Given the description of an element on the screen output the (x, y) to click on. 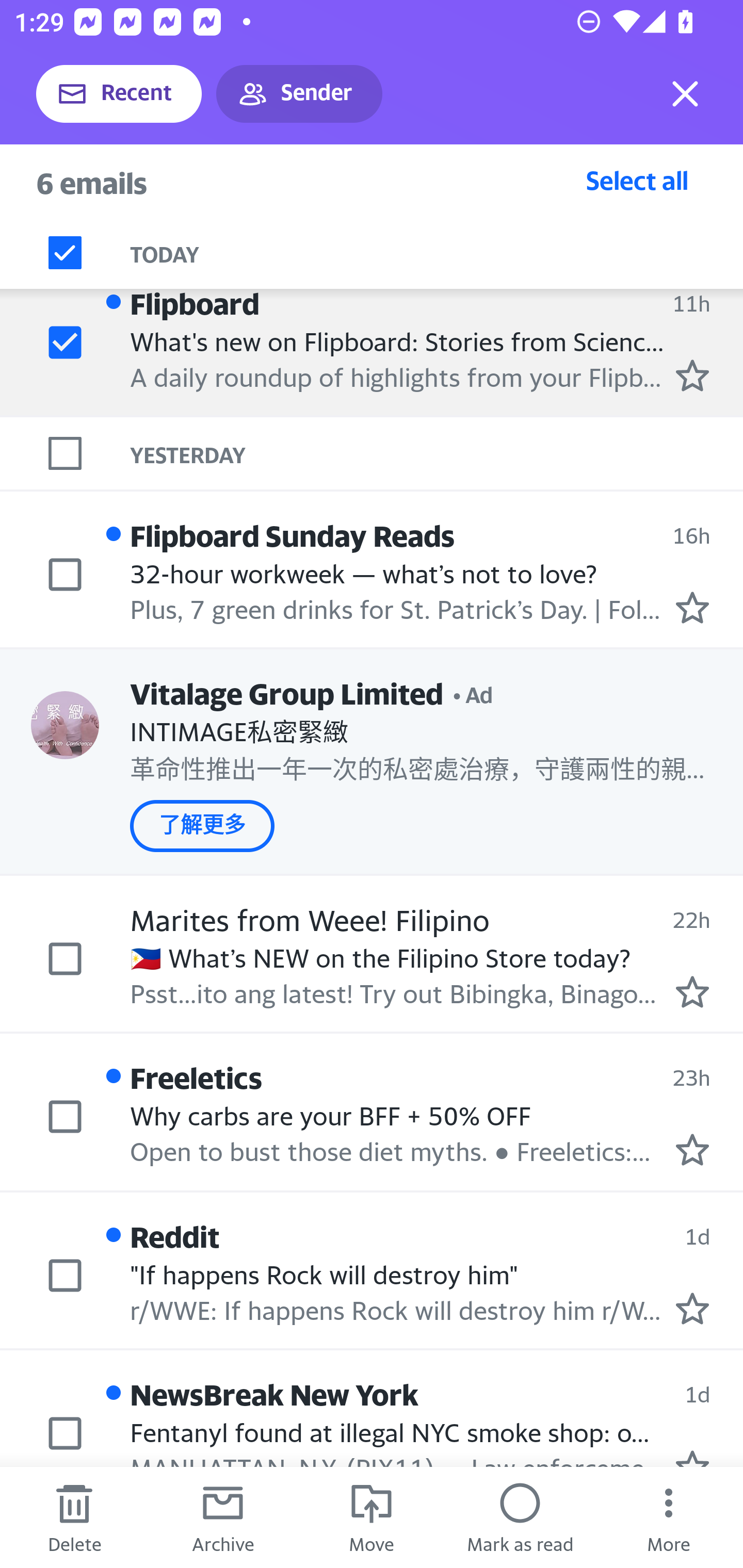
Sender (299, 93)
Exit selection mode (684, 93)
Select all (637, 180)
Mark as starred. (692, 375)
YESTERDAY (436, 453)
Mark as starred. (692, 607)
Mark as starred. (692, 991)
Mark as starred. (692, 1150)
Mark as starred. (692, 1308)
Delete (74, 1517)
Archive (222, 1517)
Move (371, 1517)
Mark as read (519, 1517)
More (668, 1517)
